Given the description of an element on the screen output the (x, y) to click on. 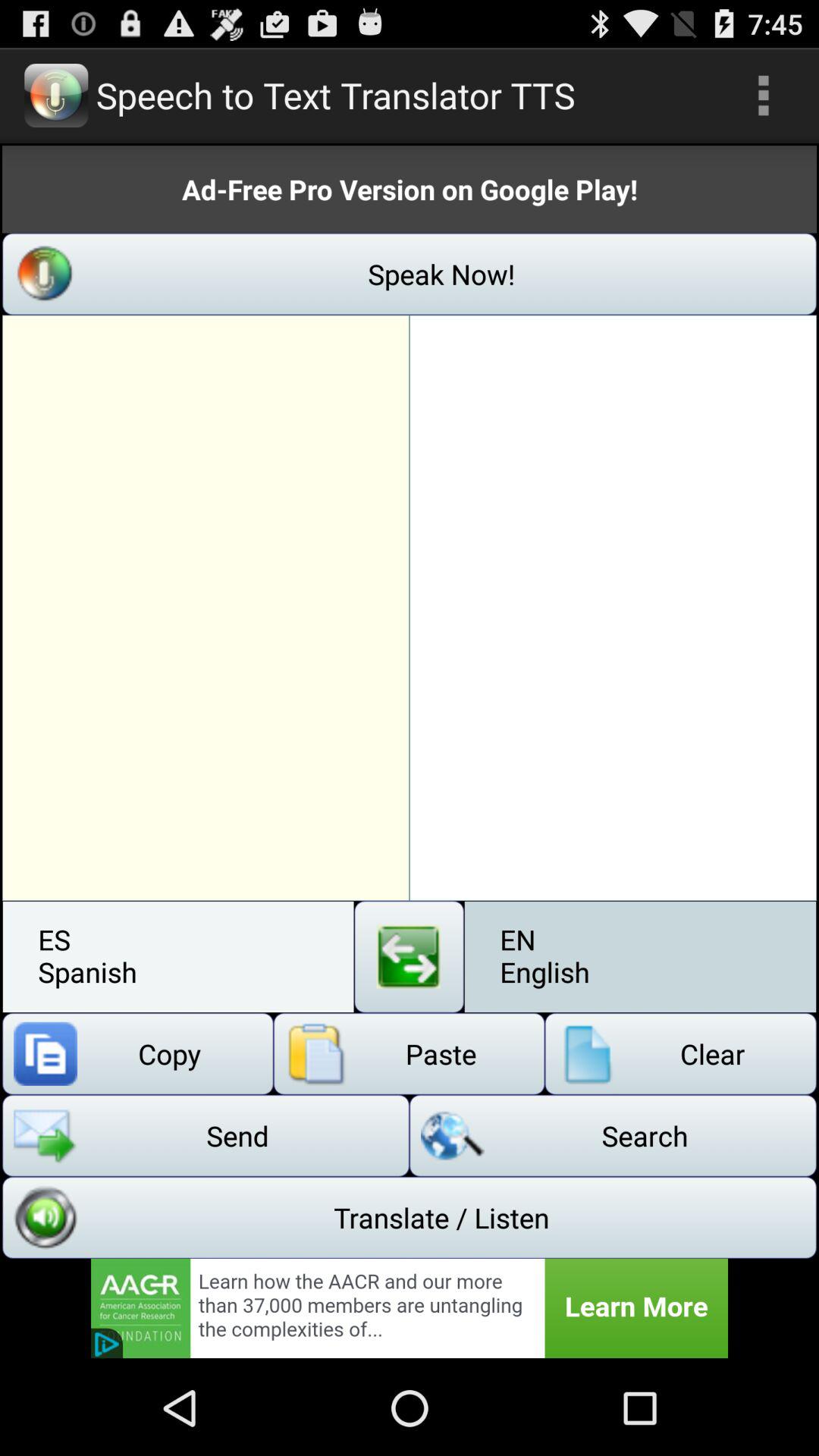
click to view advertizement (409, 1308)
